Given the description of an element on the screen output the (x, y) to click on. 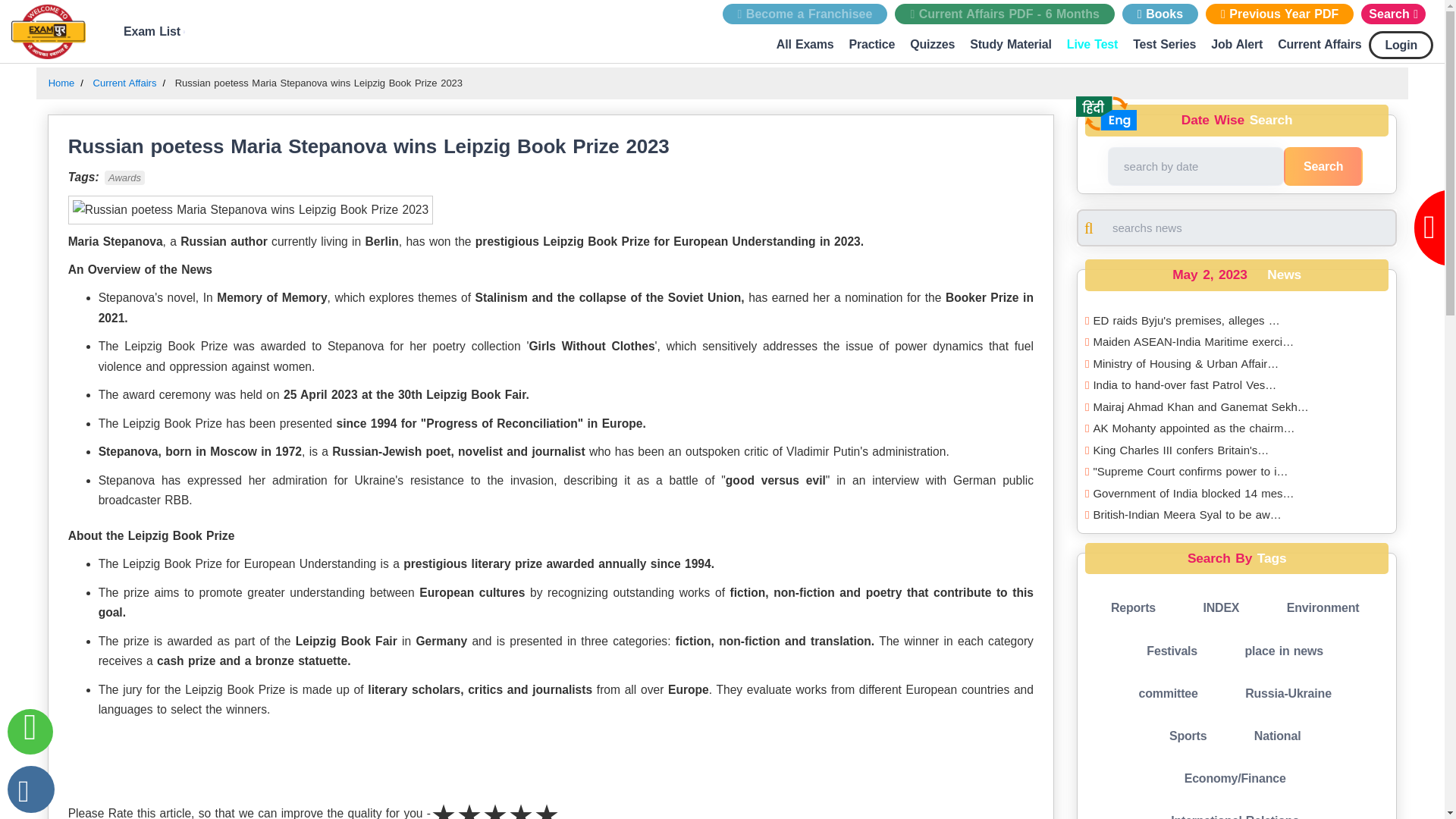
Give 2 stars (469, 805)
Give 3 stars (494, 805)
Give 5 stars (546, 805)
Give 1 star (443, 805)
Give 4 stars (521, 805)
